Given the description of an element on the screen output the (x, y) to click on. 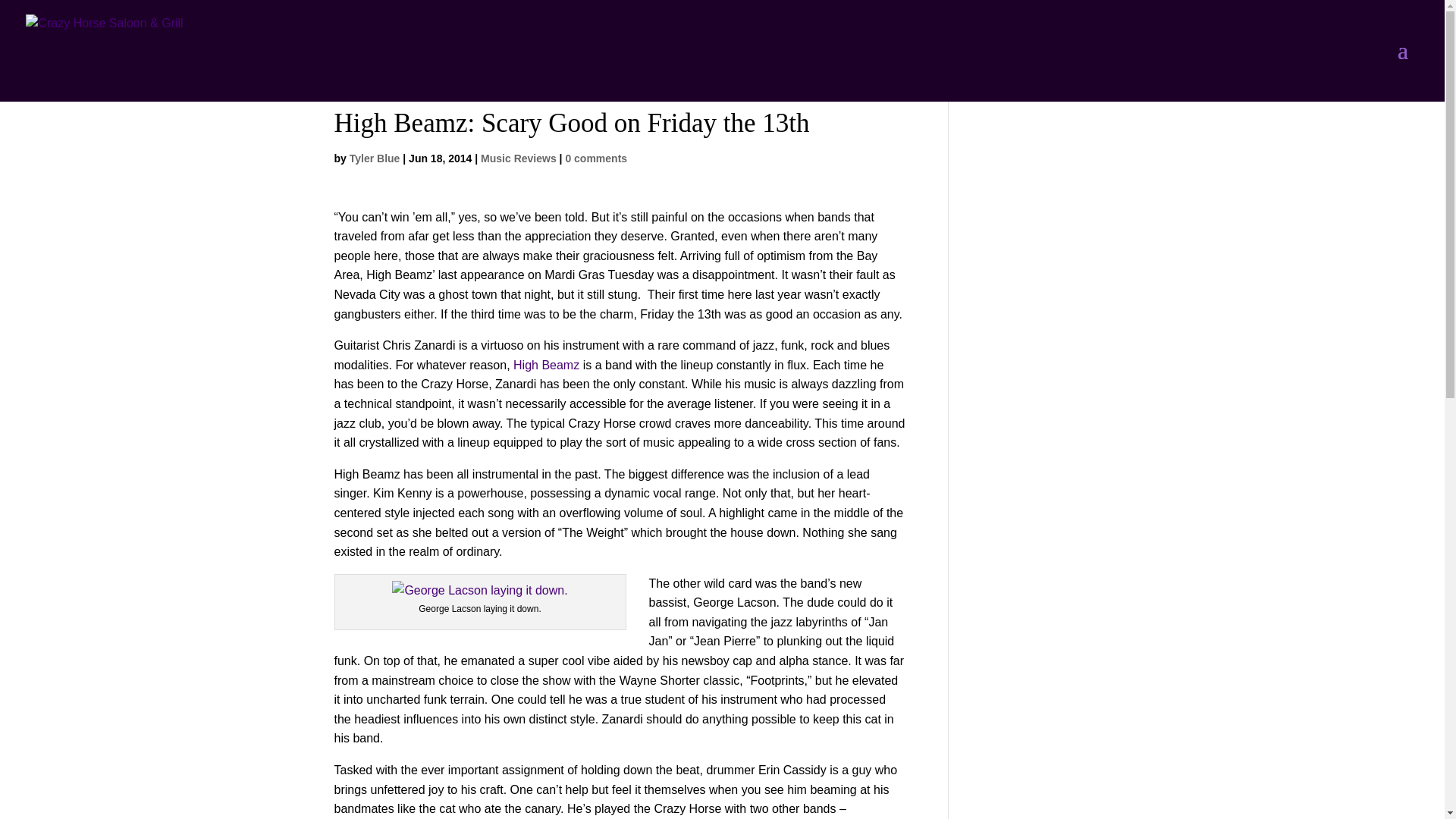
Music Reviews (518, 158)
Tyler Blue (374, 158)
0 comments (595, 158)
High Beamz (546, 364)
Posts by Tyler Blue (374, 158)
